Given the description of an element on the screen output the (x, y) to click on. 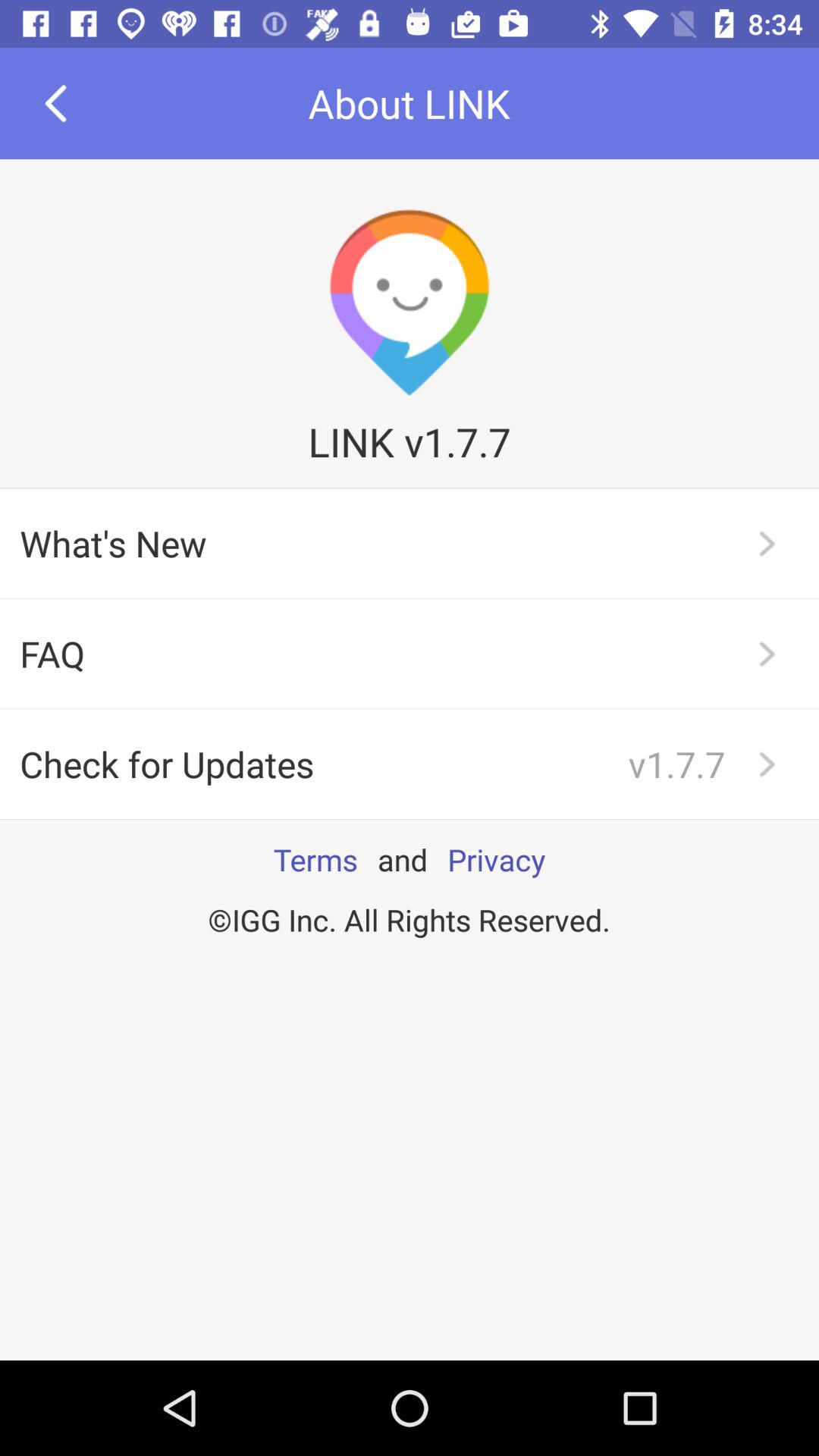
turn off the item next to the and app (315, 859)
